Given the description of an element on the screen output the (x, y) to click on. 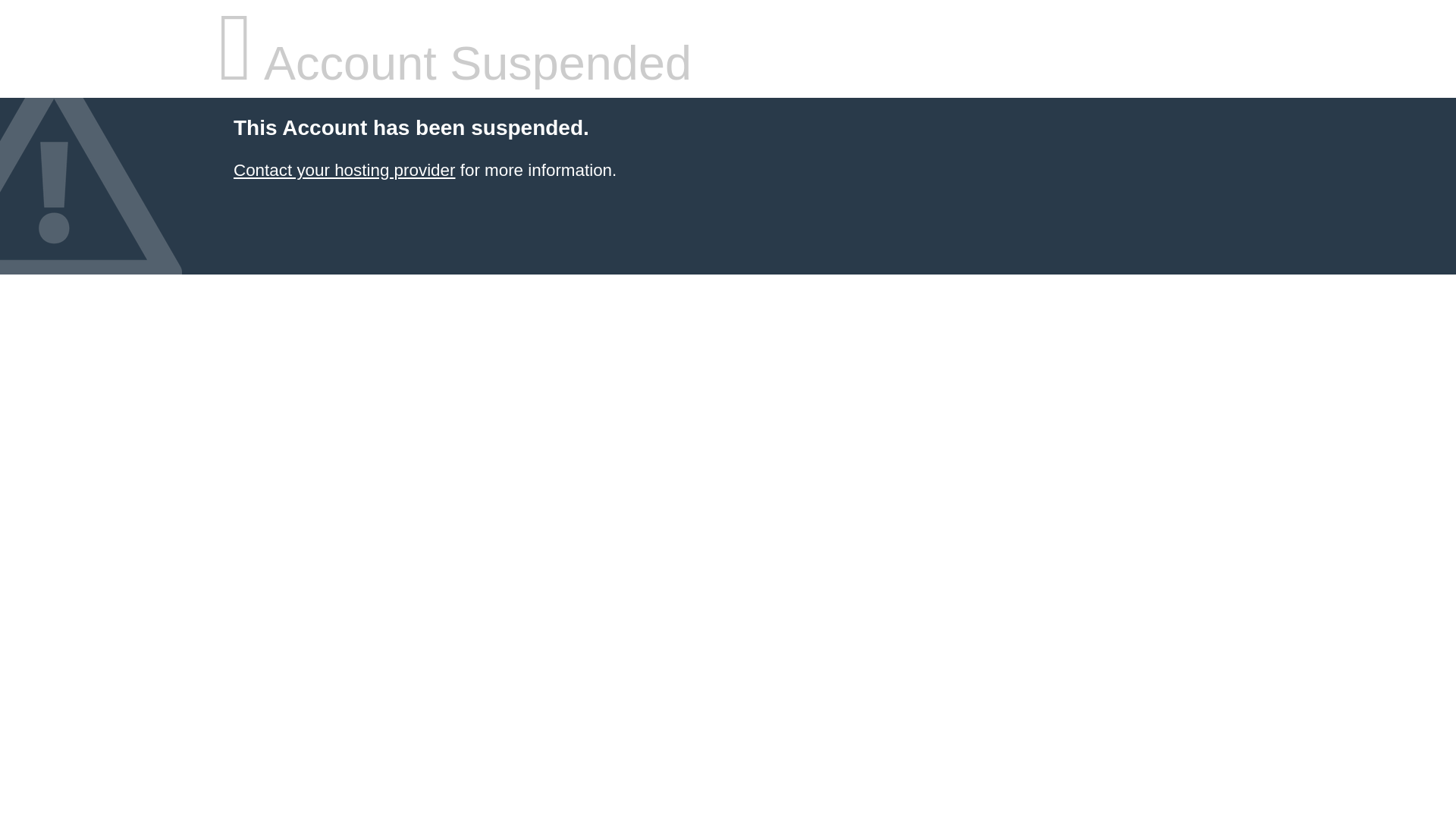
Contact your hosting provider (343, 169)
